Given the description of an element on the screen output the (x, y) to click on. 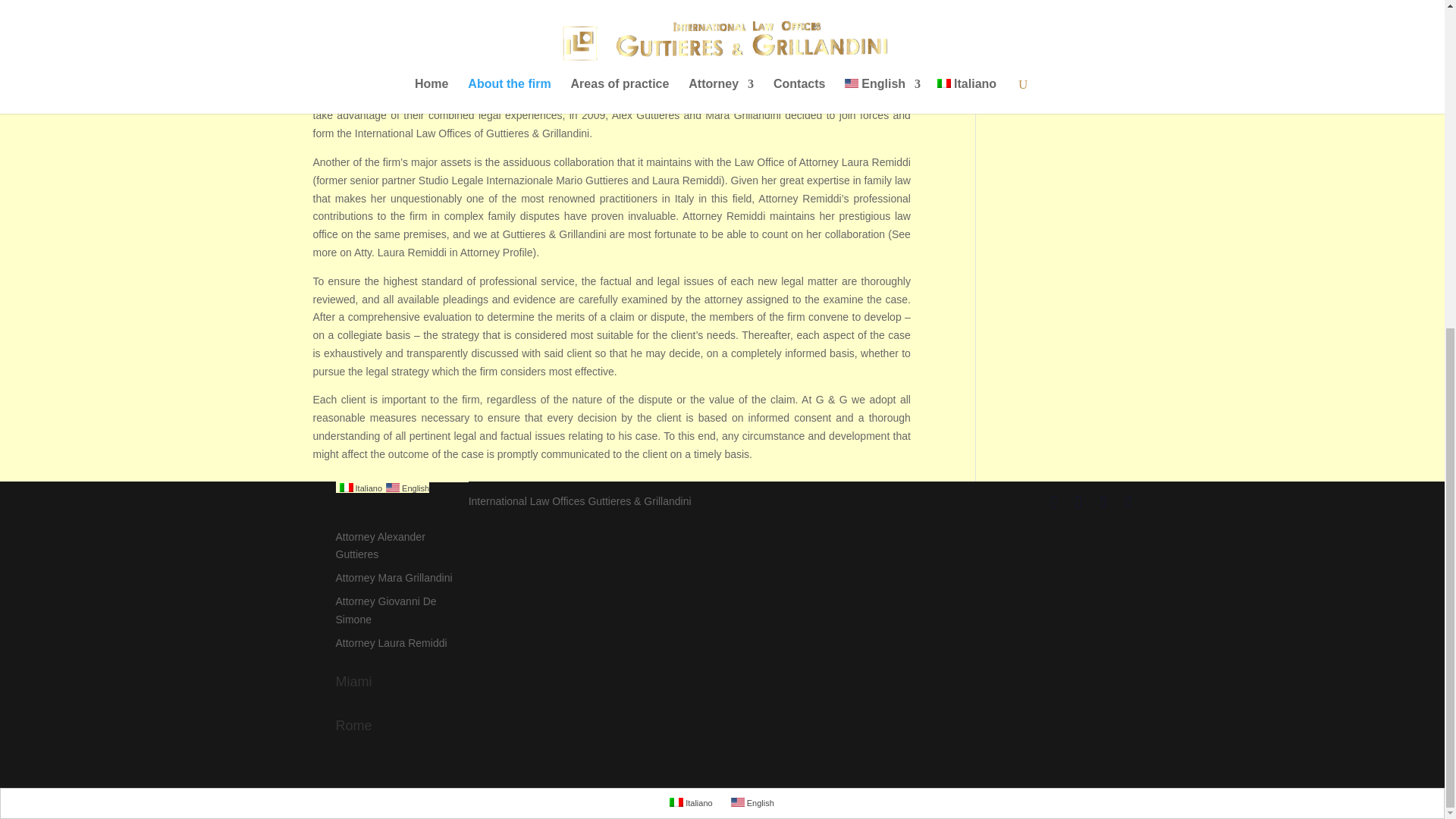
Attorney Giovanni De Simone (384, 610)
Attorney Alexander Guttieres (379, 545)
English (391, 487)
Italiano (346, 487)
 Italiano (691, 802)
English (737, 801)
 English (752, 802)
Italiano (675, 801)
 English (405, 487)
 Italiano (357, 487)
